Given the description of an element on the screen output the (x, y) to click on. 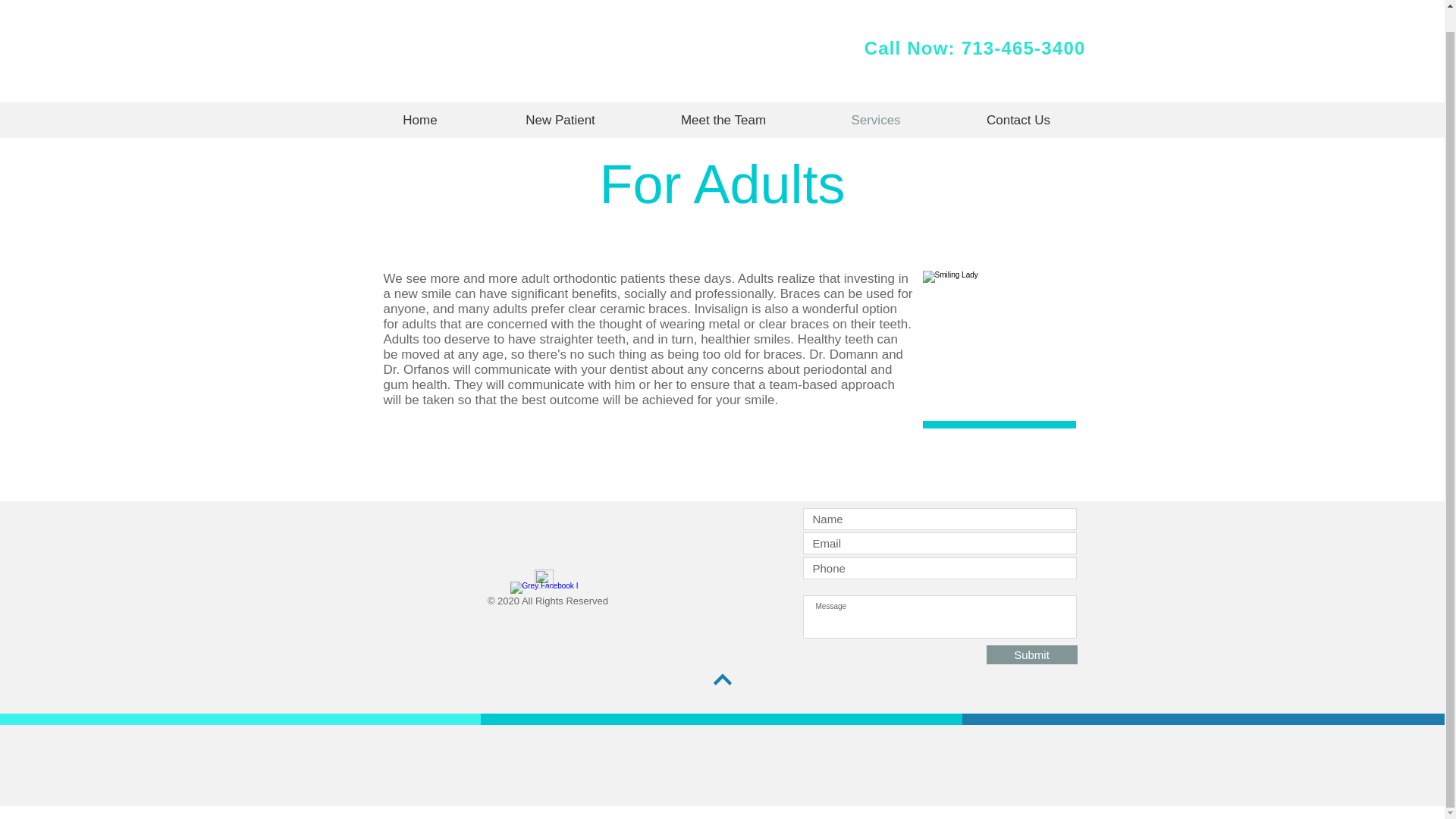
New Patient (559, 119)
Call Now: 713-465-3400 (975, 47)
Home (420, 119)
Meet the Team (724, 119)
Submit (1031, 654)
Services (875, 119)
Contact Us (1018, 119)
